Given the description of an element on the screen output the (x, y) to click on. 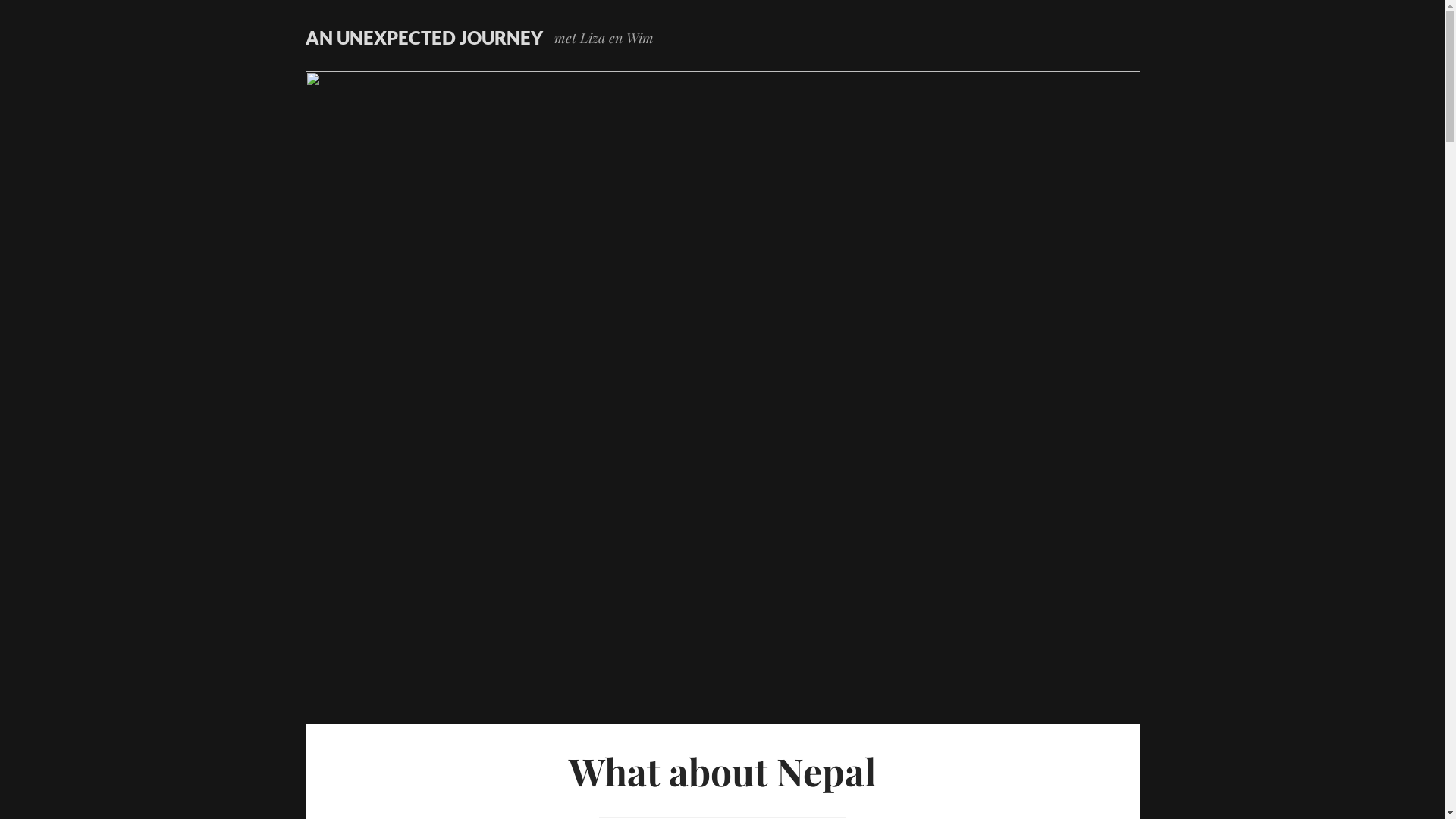
AN UNEXPECTED JOURNEY Element type: text (423, 37)
